Given the description of an element on the screen output the (x, y) to click on. 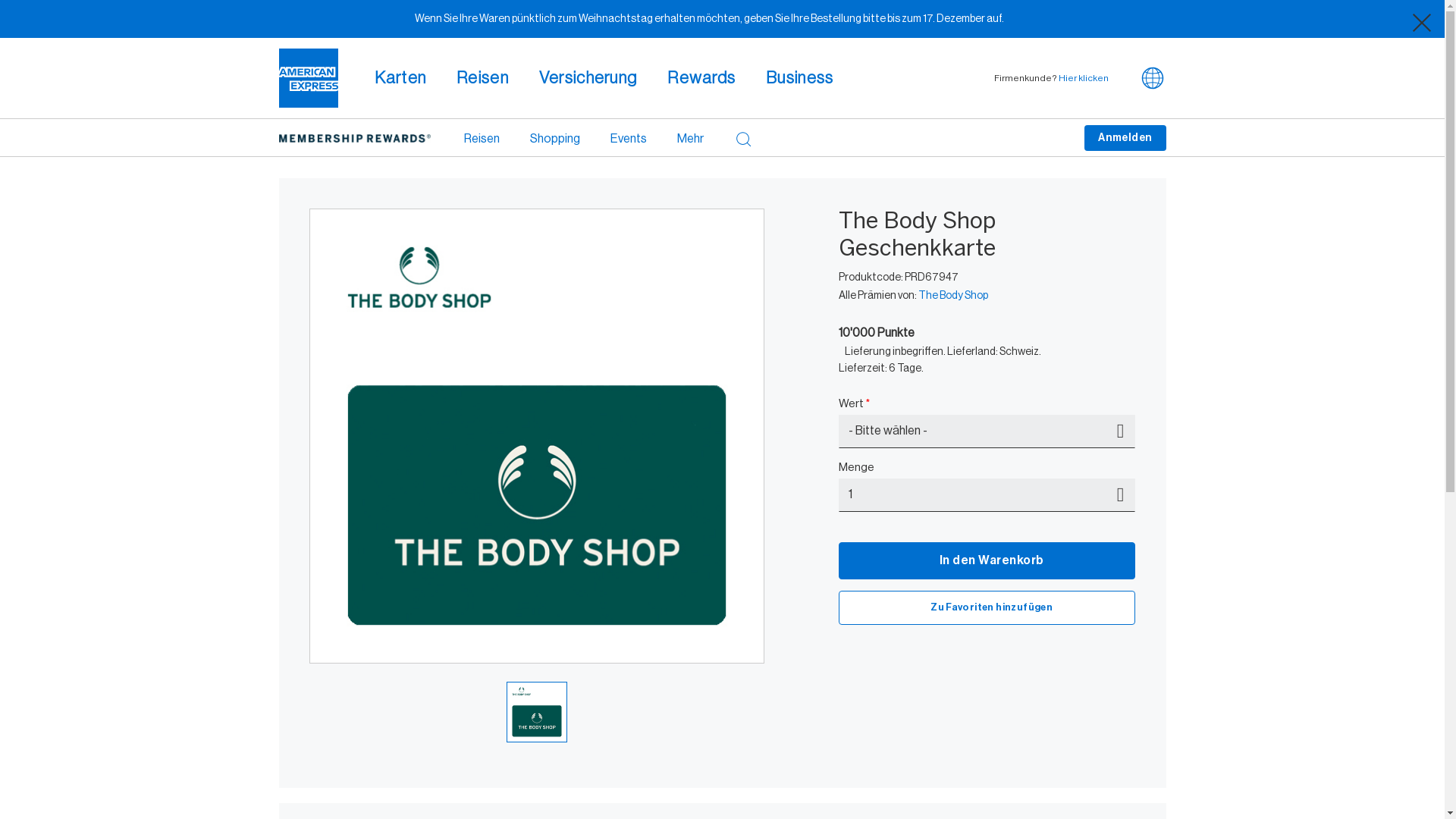
The Body Shop Geschenkkarte Element type: hover (536, 435)
Karten Element type: text (400, 77)
Rewards Element type: text (701, 77)
Business Element type: text (799, 77)
Reisen Element type: text (482, 77)
x Element type: text (1421, 22)
Hier klicken Element type: text (1083, 77)
Mehr Element type: text (689, 137)
Events Element type: text (627, 137)
Shopping Element type: text (554, 137)
Versicherung Element type: text (588, 77)
Suche Element type: text (743, 137)
Anmelden Element type: text (1124, 137)
The Body Shop Geschenkkarte Element type: hover (536, 711)
Reisen Element type: text (481, 137)
In den Warenkorb Element type: text (986, 561)
The Body Shop Element type: text (953, 295)
